Given the description of an element on the screen output the (x, y) to click on. 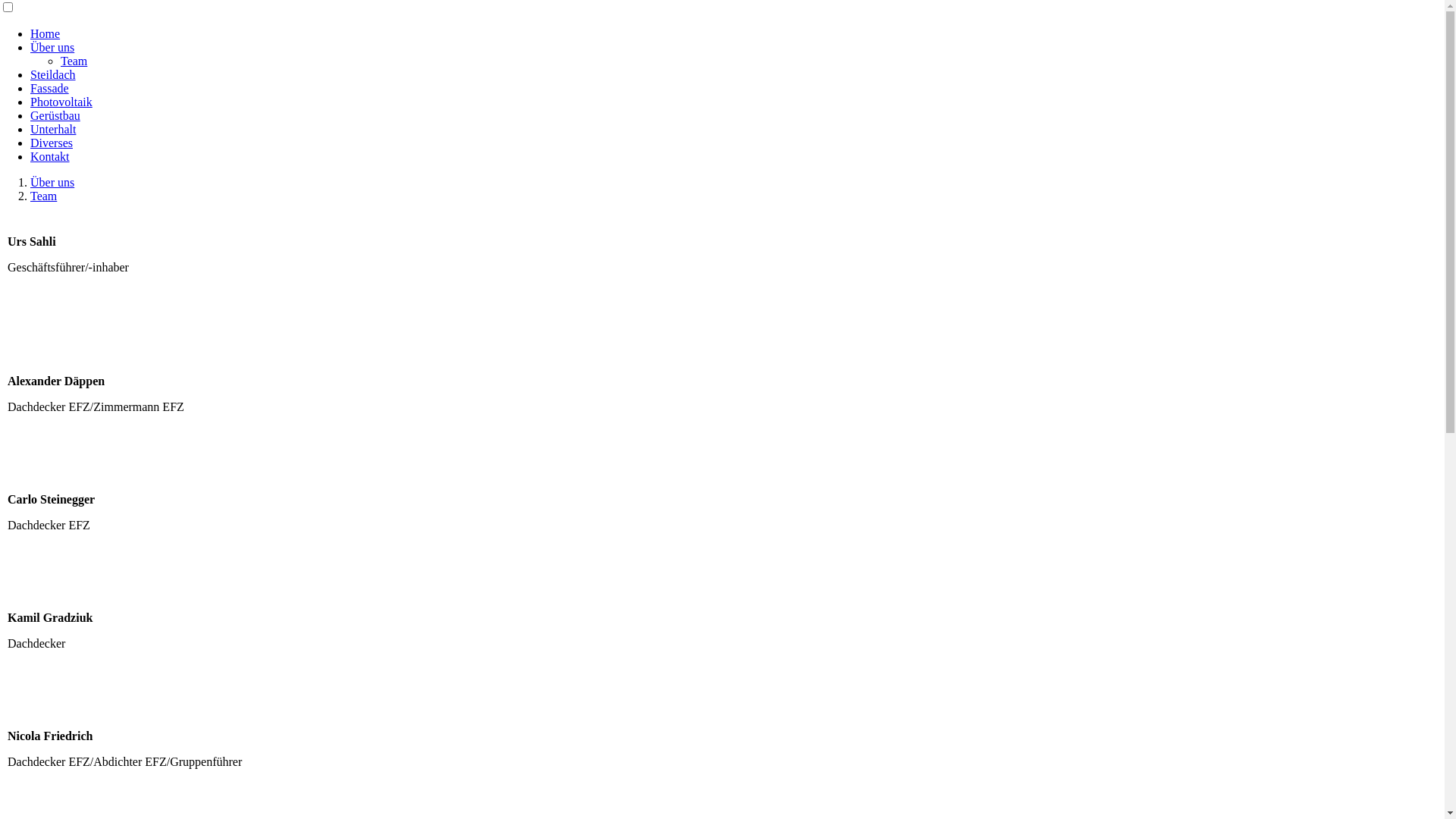
Steildach Element type: text (52, 74)
Home Element type: text (44, 33)
Team Element type: text (43, 195)
Photovoltaik Element type: text (61, 101)
Diverses Element type: text (51, 142)
Fassade Element type: text (49, 87)
Unterhalt Element type: text (52, 128)
Kontakt Element type: text (49, 156)
Team Element type: text (73, 60)
